Given the description of an element on the screen output the (x, y) to click on. 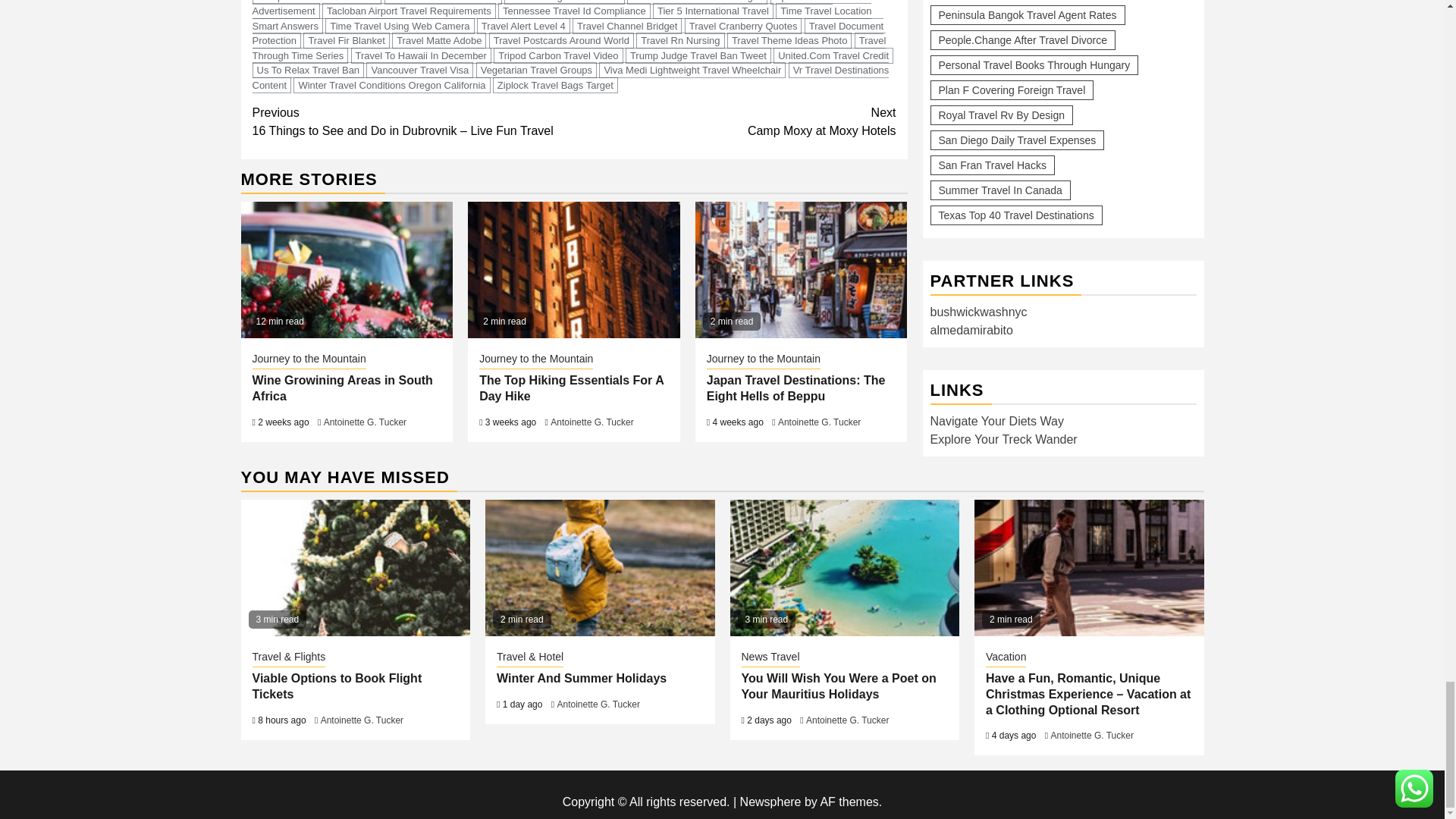
Winter And Summer Holidays (599, 567)
Wine Growining Areas in South Africa (346, 269)
You Will Wish You Were a Poet on Your Mauritius Holidays (844, 567)
The Top Hiking Essentials For A Day Hike (573, 269)
Viable Options to Book Flight Tickets (355, 567)
Japan Travel Destinations: The Eight Hells of Beppu (801, 269)
